Given the description of an element on the screen output the (x, y) to click on. 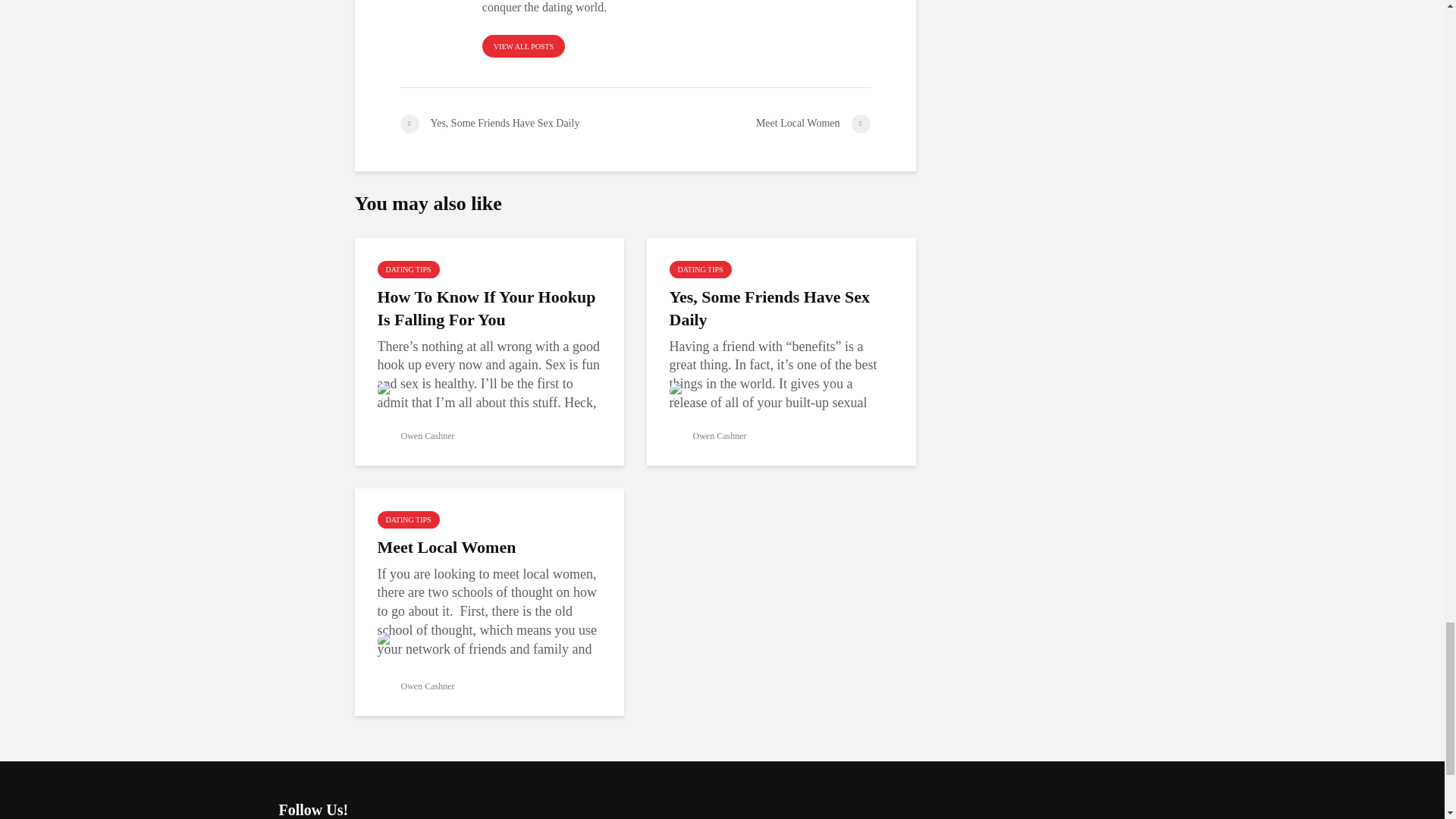
Owen Cashner (415, 685)
Owen Cashner (415, 435)
Yes, Some Friends Have Sex Daily (517, 123)
DATING TIPS (408, 519)
How To Know If Your Hookup Is Falling For You (489, 308)
Yes, Some Friends Have Sex Daily (780, 308)
Meet Local Women (752, 123)
VIEW ALL POSTS (522, 46)
DATING TIPS (699, 269)
Meet Local Women (489, 547)
DATING TIPS (408, 269)
Owen Cashner (706, 435)
